Given the description of an element on the screen output the (x, y) to click on. 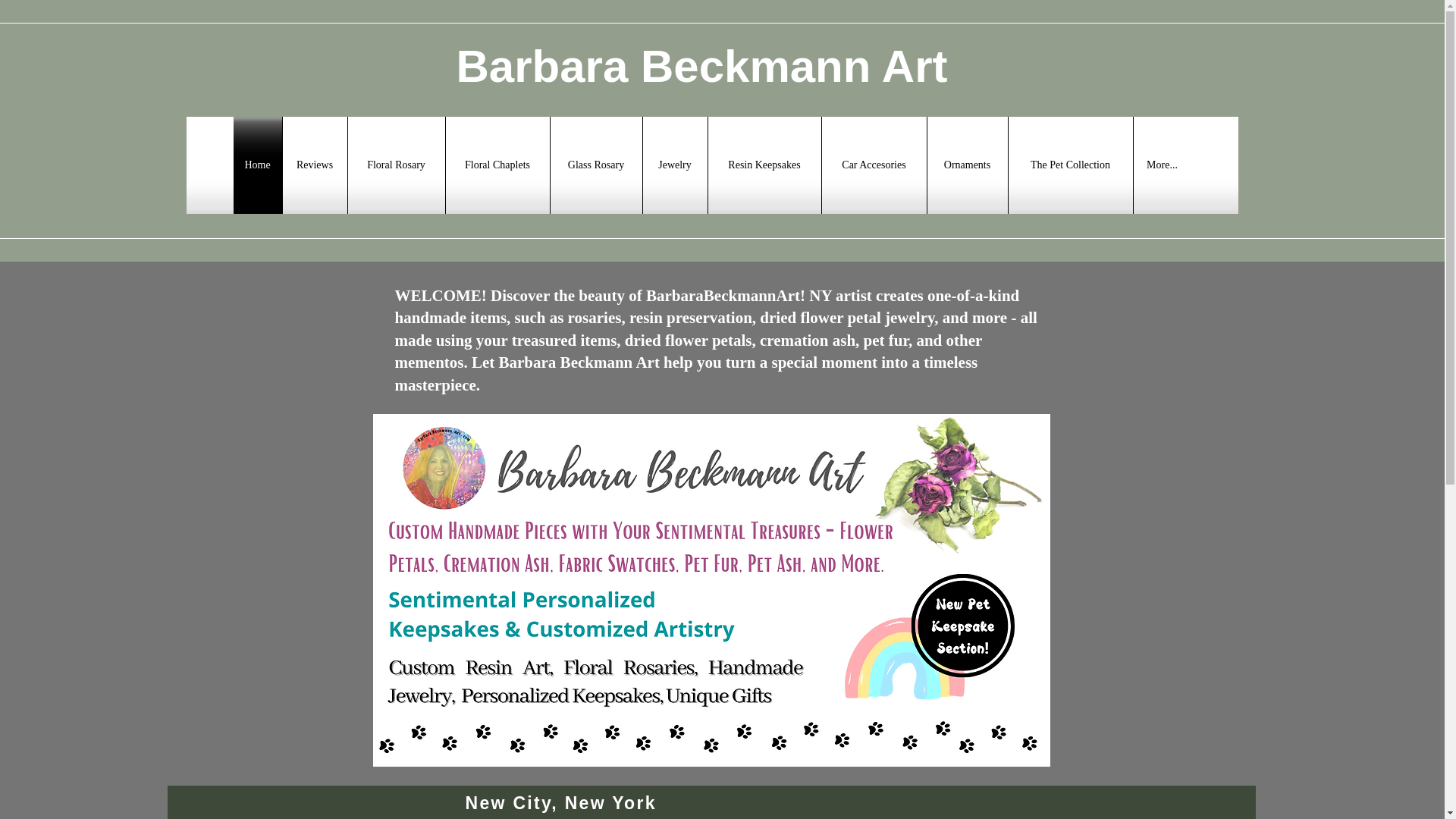
Glass Rosary (596, 165)
Resin Keepsakes (764, 165)
Floral Chaplets (497, 165)
Floral Rosary (395, 165)
